Given the description of an element on the screen output the (x, y) to click on. 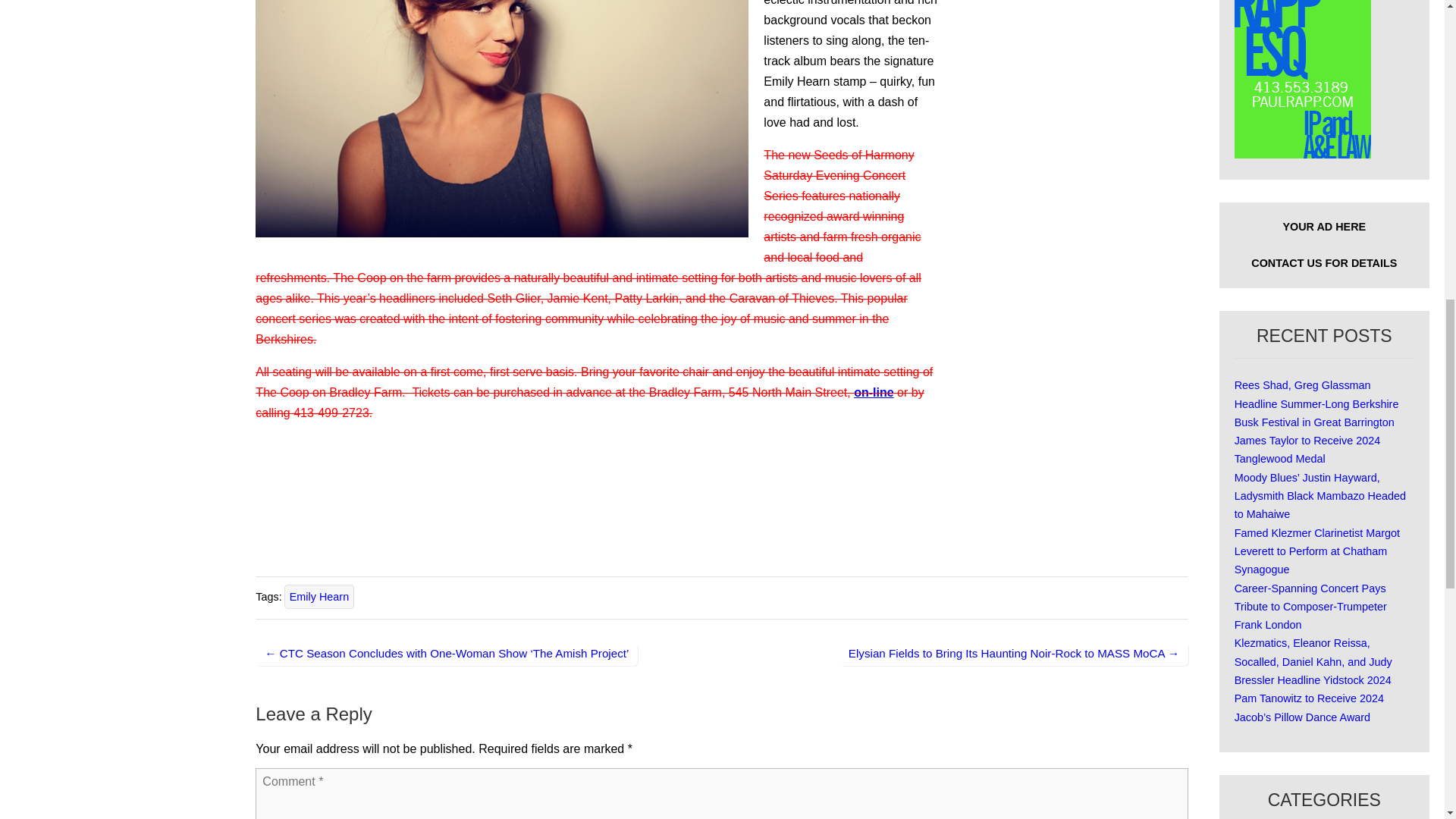
Emily Hearn (318, 596)
on-line (873, 391)
